Given the description of an element on the screen output the (x, y) to click on. 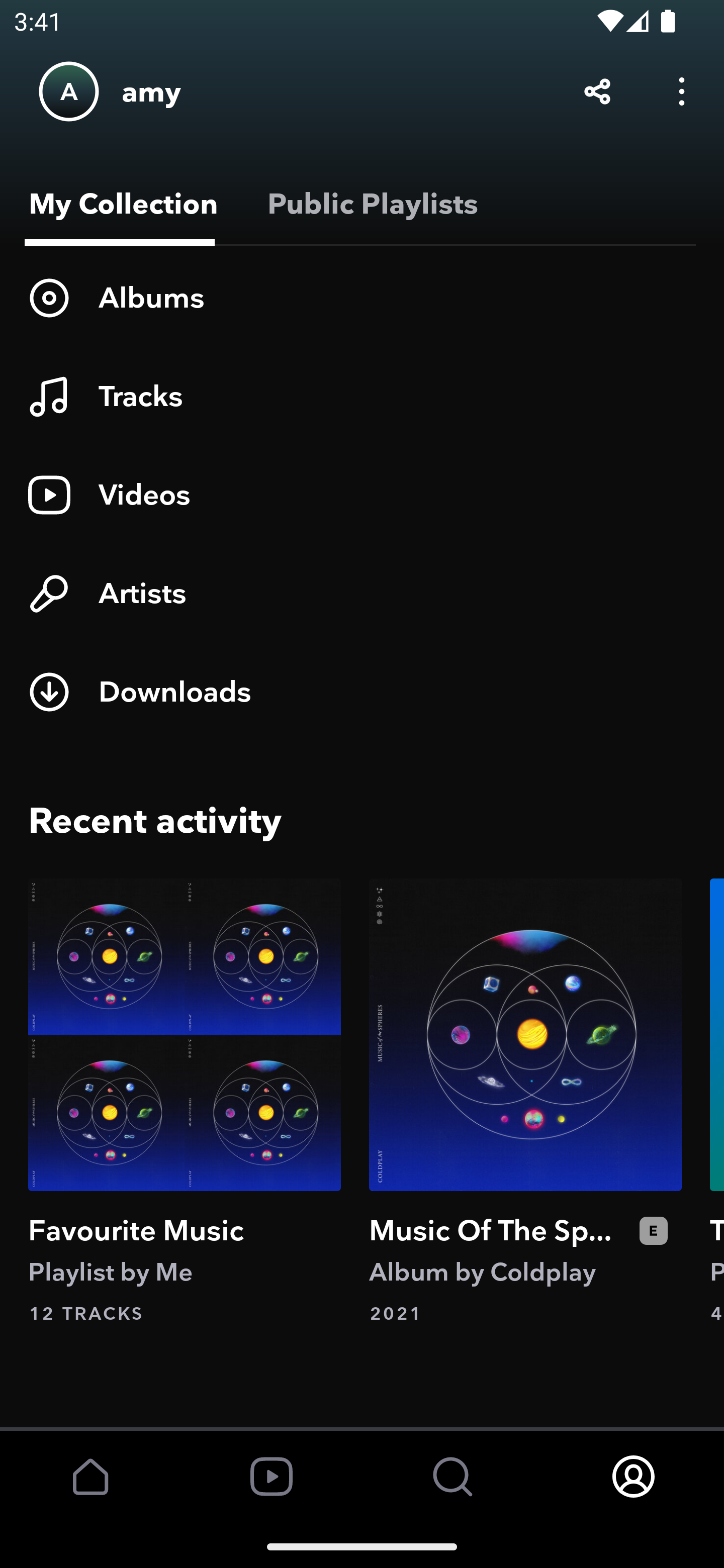
Share (597, 90)
Options (681, 90)
Public Playlists (369, 203)
Albums (362, 297)
Tracks (362, 395)
Videos (362, 494)
Artists (362, 593)
Downloads (362, 691)
Favourite Music Playlist by Me 12 TRACKS (184, 1101)
Music Of The Spheres Album by Coldplay 2021 (525, 1101)
